Given the description of an element on the screen output the (x, y) to click on. 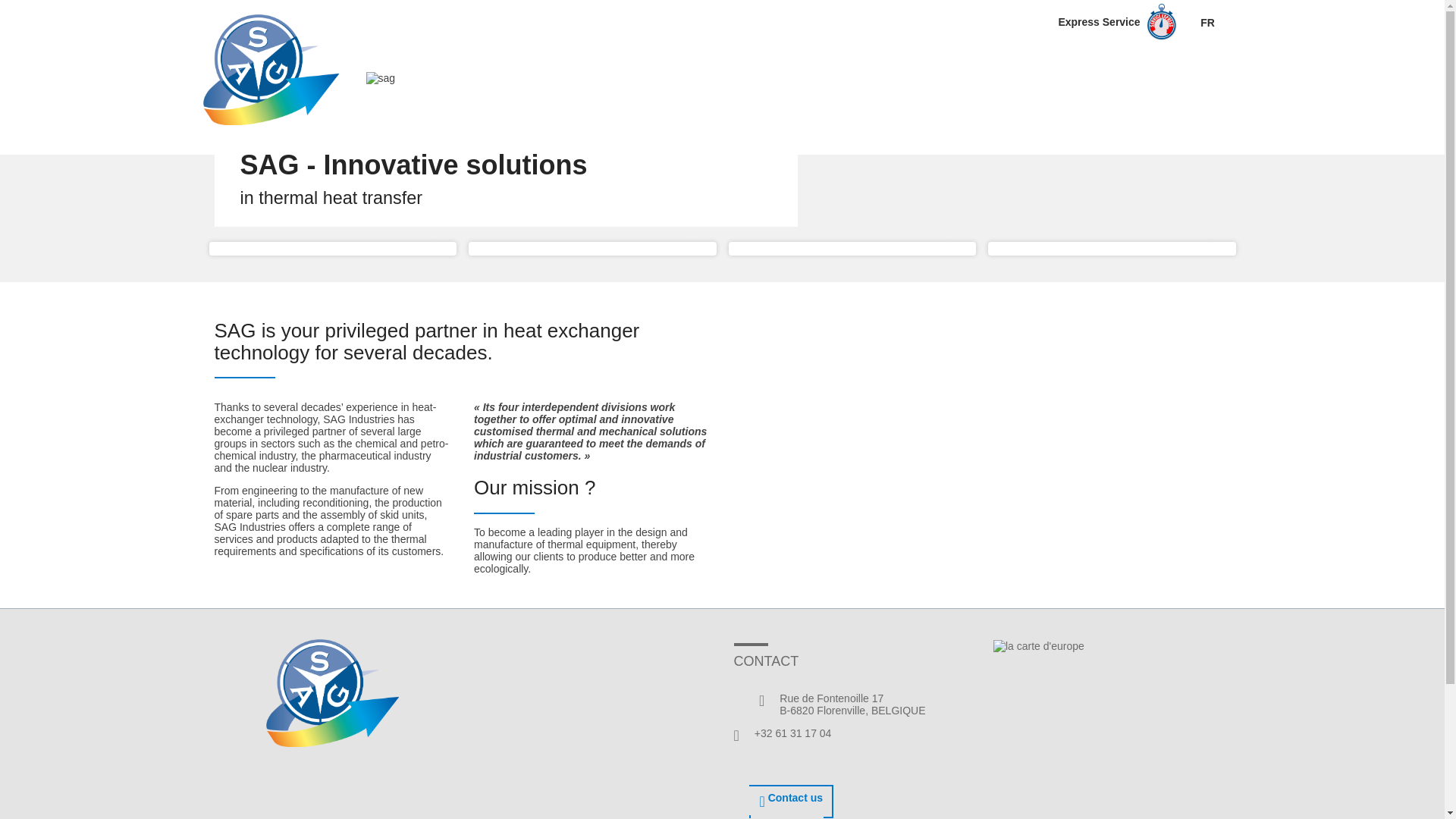
Divisions (1039, 79)
SAG (332, 692)
Values (1120, 79)
FR (1207, 22)
Contact (1192, 79)
sag (379, 78)
SAG - Service Express (1115, 22)
Contact (1192, 79)
Values (1120, 79)
la carte d'europe (1038, 645)
